Given the description of an element on the screen output the (x, y) to click on. 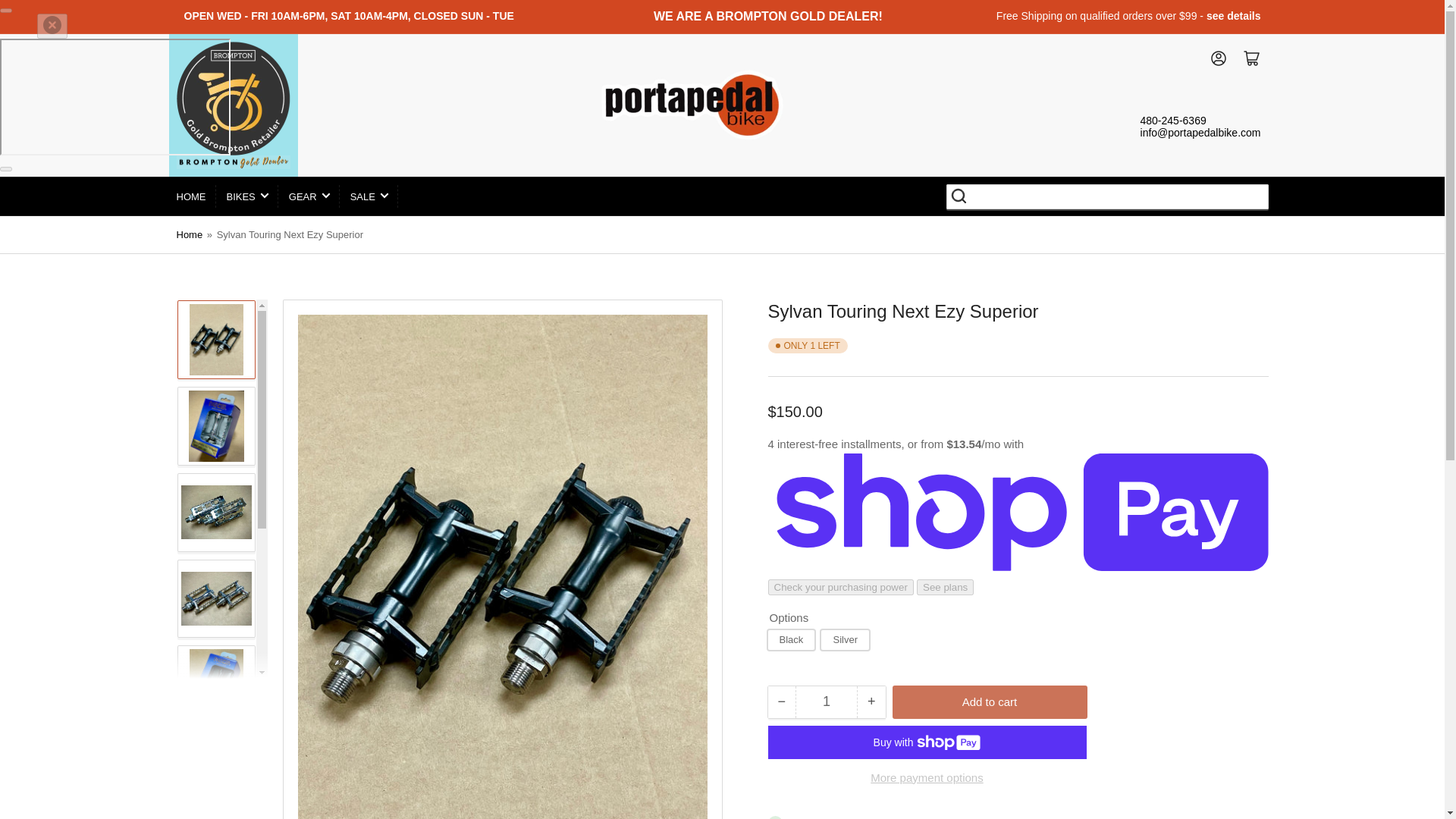
1 (825, 702)
see details (1233, 15)
Log in (1210, 58)
Open mini cart (1243, 58)
Shipping Information (1233, 15)
